Given the description of an element on the screen output the (x, y) to click on. 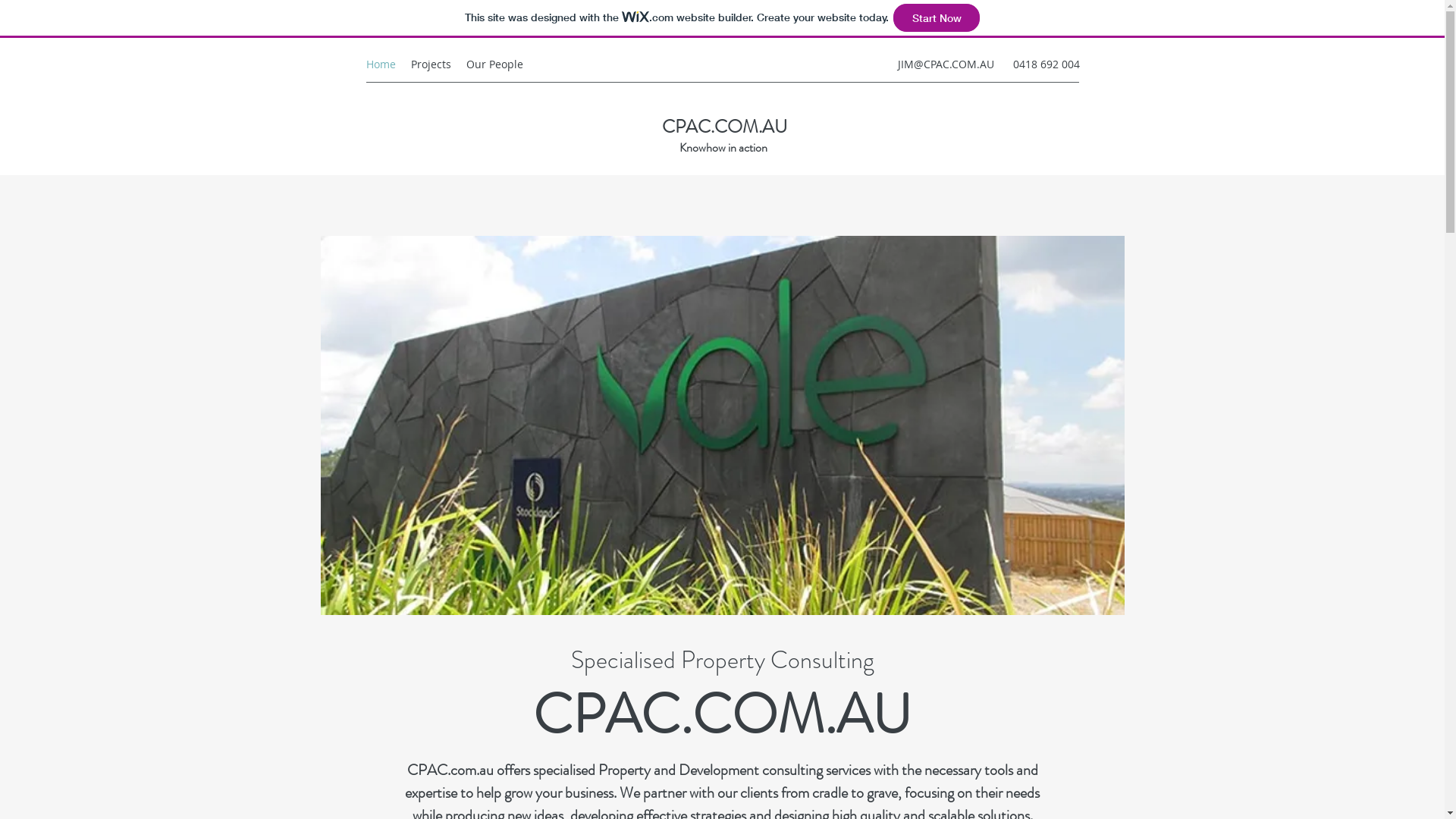
Projects Element type: text (430, 64)
JIM@CPAC.COM.AU Element type: text (945, 63)
Our People Element type: text (494, 64)
Home Element type: text (379, 64)
